Given the description of an element on the screen output the (x, y) to click on. 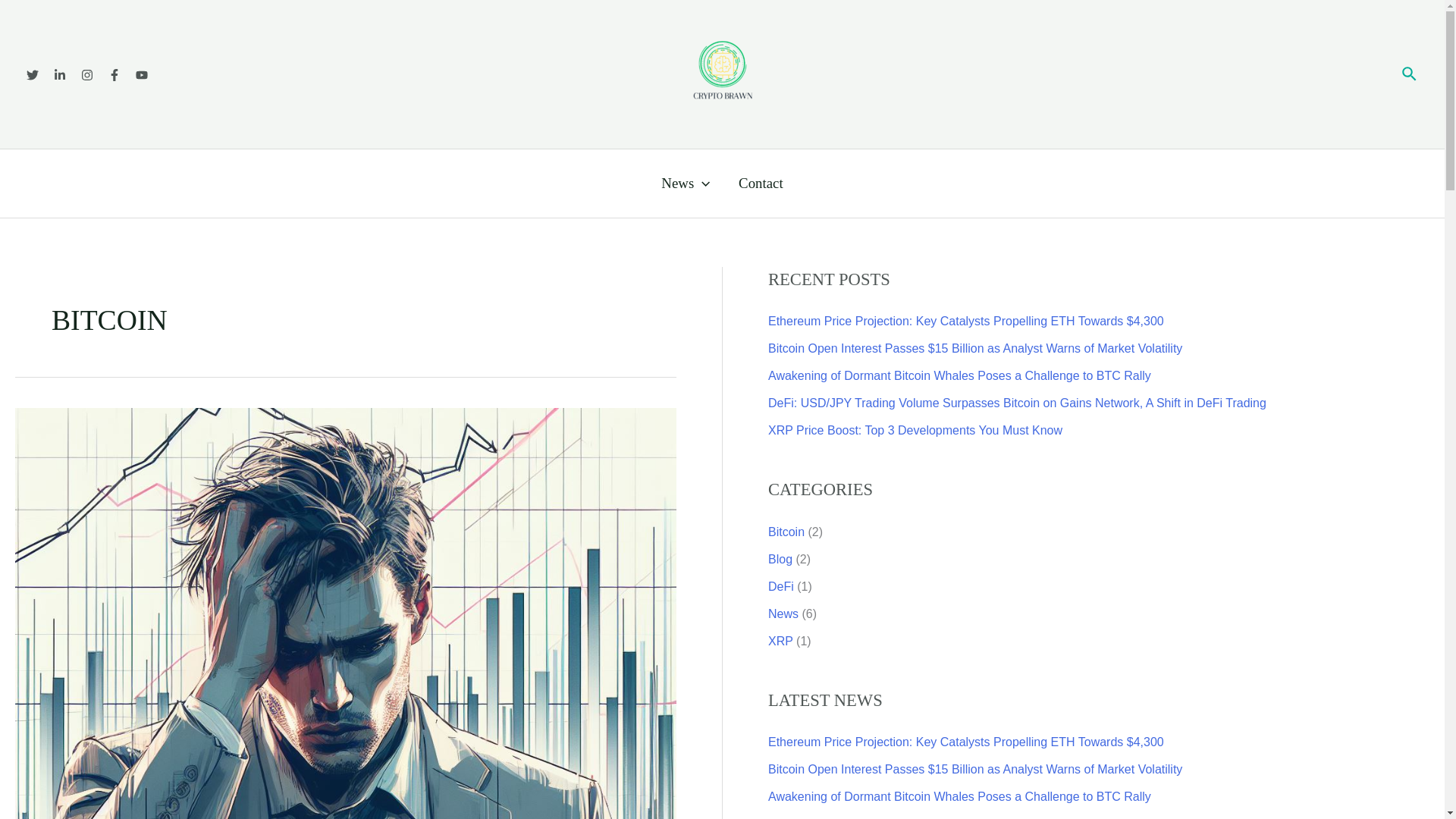
News (782, 613)
XRP (780, 640)
DeFi (780, 585)
XRP Price Boost: Top 3 Developments You Must Know (915, 430)
News (686, 183)
Bitcoin (786, 531)
Contact (759, 183)
Blog (780, 558)
